Given the description of an element on the screen output the (x, y) to click on. 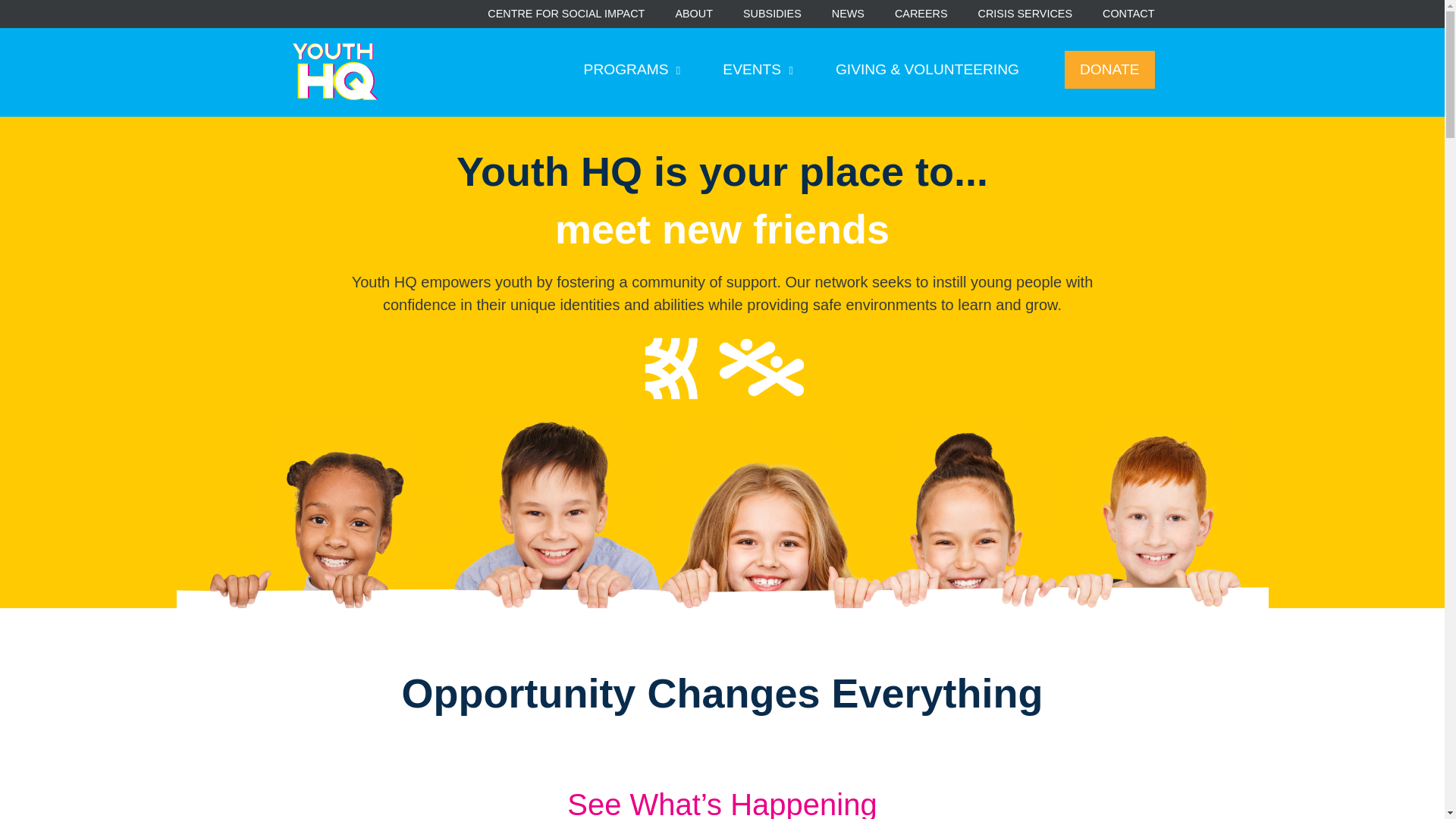
SUBSIDIES (772, 13)
CONTACT (1128, 13)
CENTRE FOR SOCIAL IMPACT (566, 13)
CRISIS SERVICES (1025, 13)
DONATE (1109, 69)
PROGRAMS (632, 69)
EVENTS (757, 69)
CAREERS (921, 13)
ABOUT (694, 13)
NEWS (847, 13)
